Given the description of an element on the screen output the (x, y) to click on. 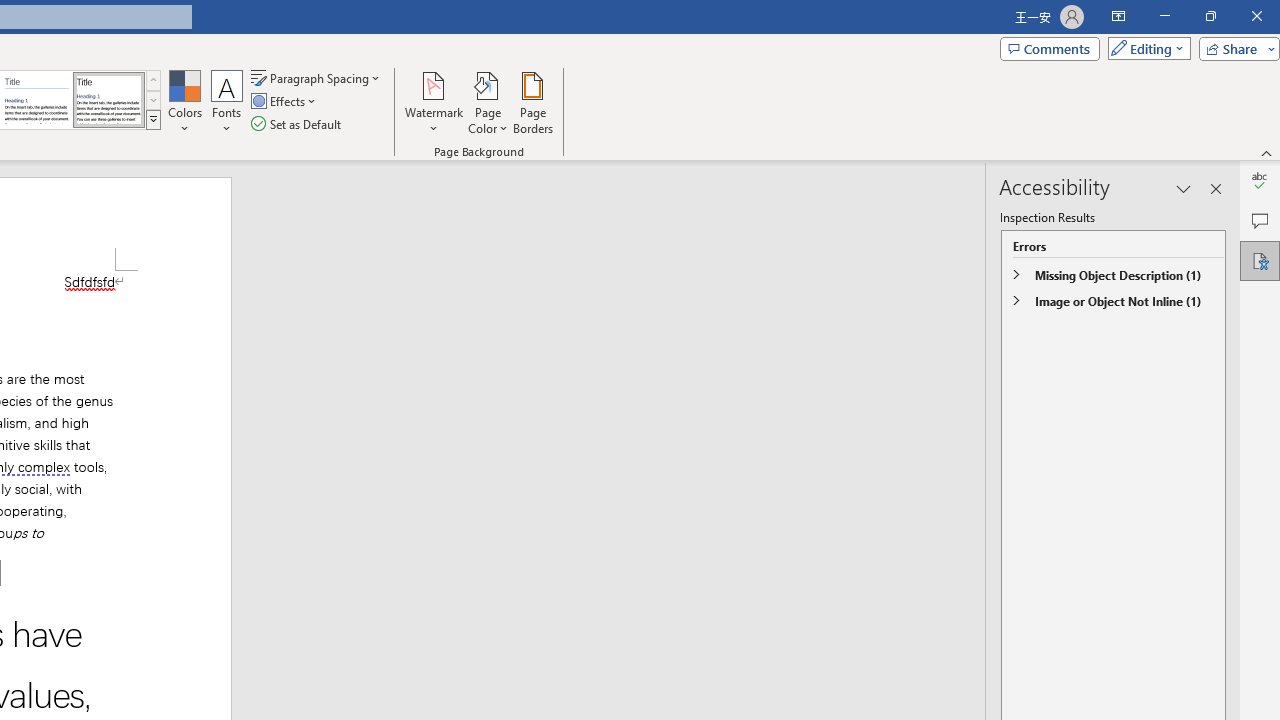
Paragraph Spacing (317, 78)
Effects (285, 101)
Page Borders... (532, 102)
Style Set (153, 120)
